Given the description of an element on the screen output the (x, y) to click on. 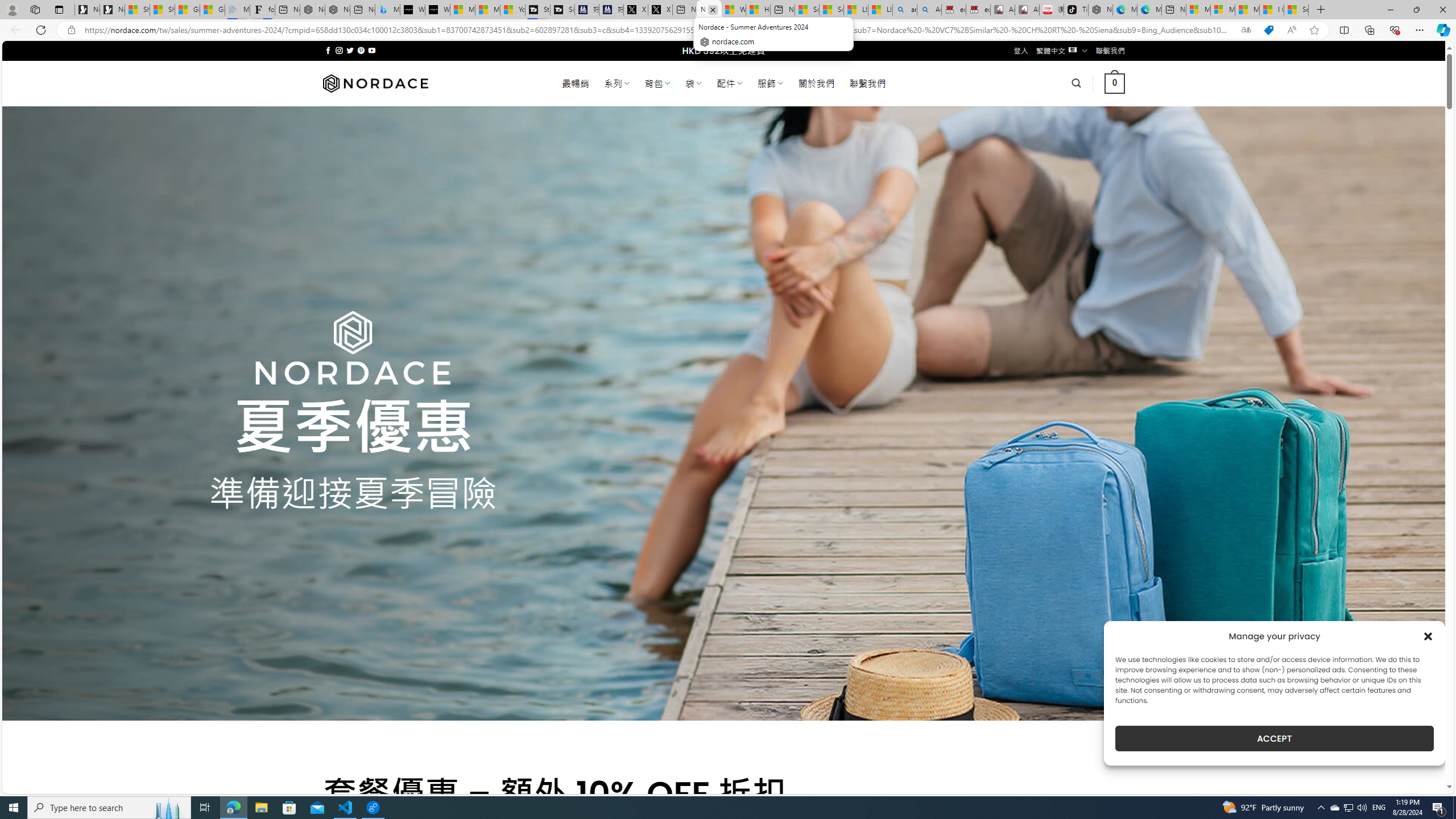
Nordace - #1 Japanese Best-Seller - Siena Smart Backpack (337, 9)
Streaming Coverage | T3 (536, 9)
Follow on YouTube (371, 50)
Shanghai, China weather forecast | Microsoft Weather (162, 9)
